Given the description of an element on the screen output the (x, y) to click on. 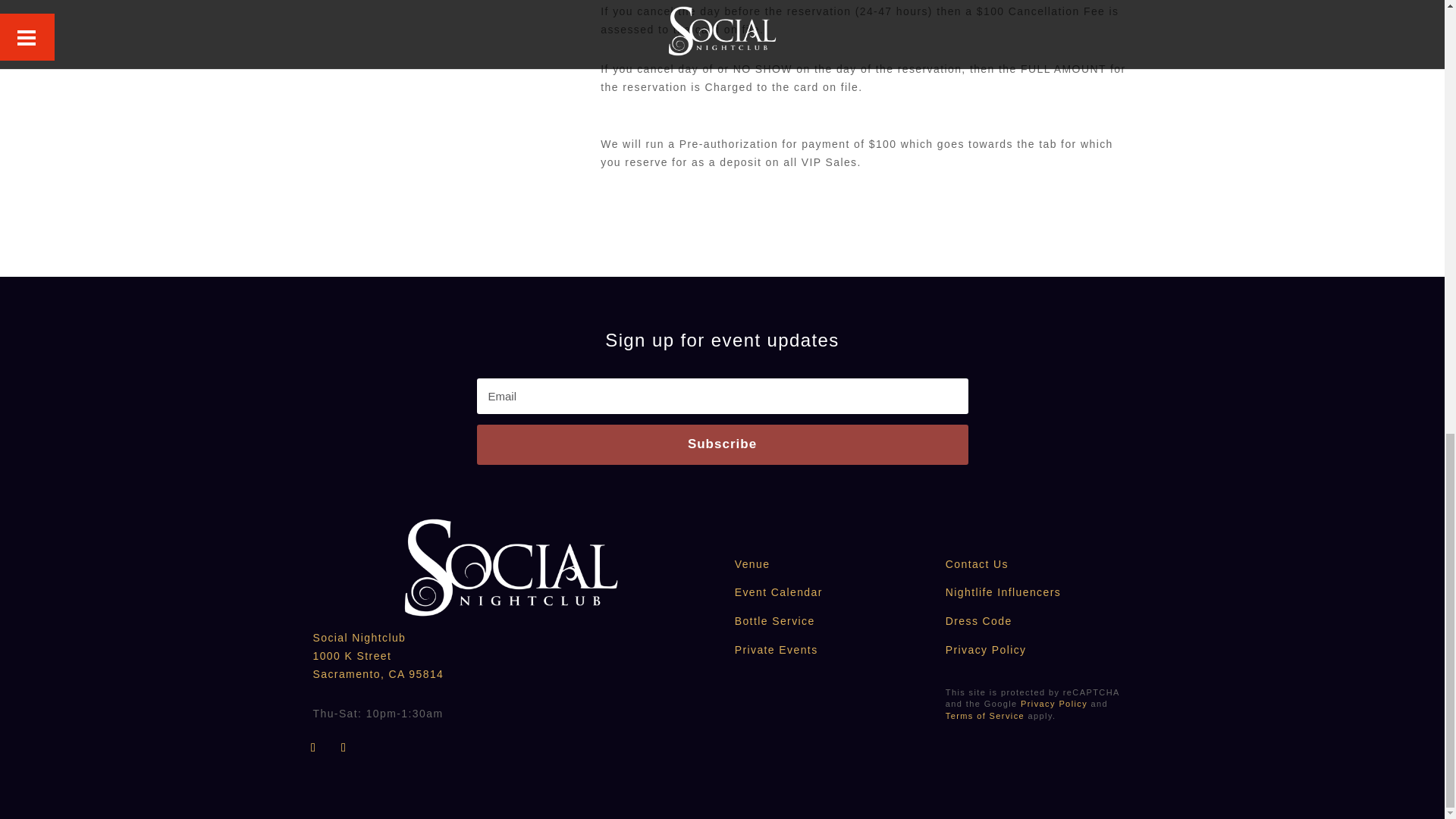
Follow on Facebook (313, 747)
Subscribe (722, 445)
Contact Us (976, 563)
Terms of Service (984, 715)
1000 K Street (352, 655)
Bottle Service (775, 621)
Follow on Instagram (343, 747)
Dress Code (977, 621)
Private Events (776, 649)
Social Nightclub (359, 637)
Nightlife Influencers (1002, 592)
Sacramento, CA 95814 (378, 674)
Venue (752, 563)
Privacy Policy (1053, 703)
Privacy Policy (985, 649)
